Given the description of an element on the screen output the (x, y) to click on. 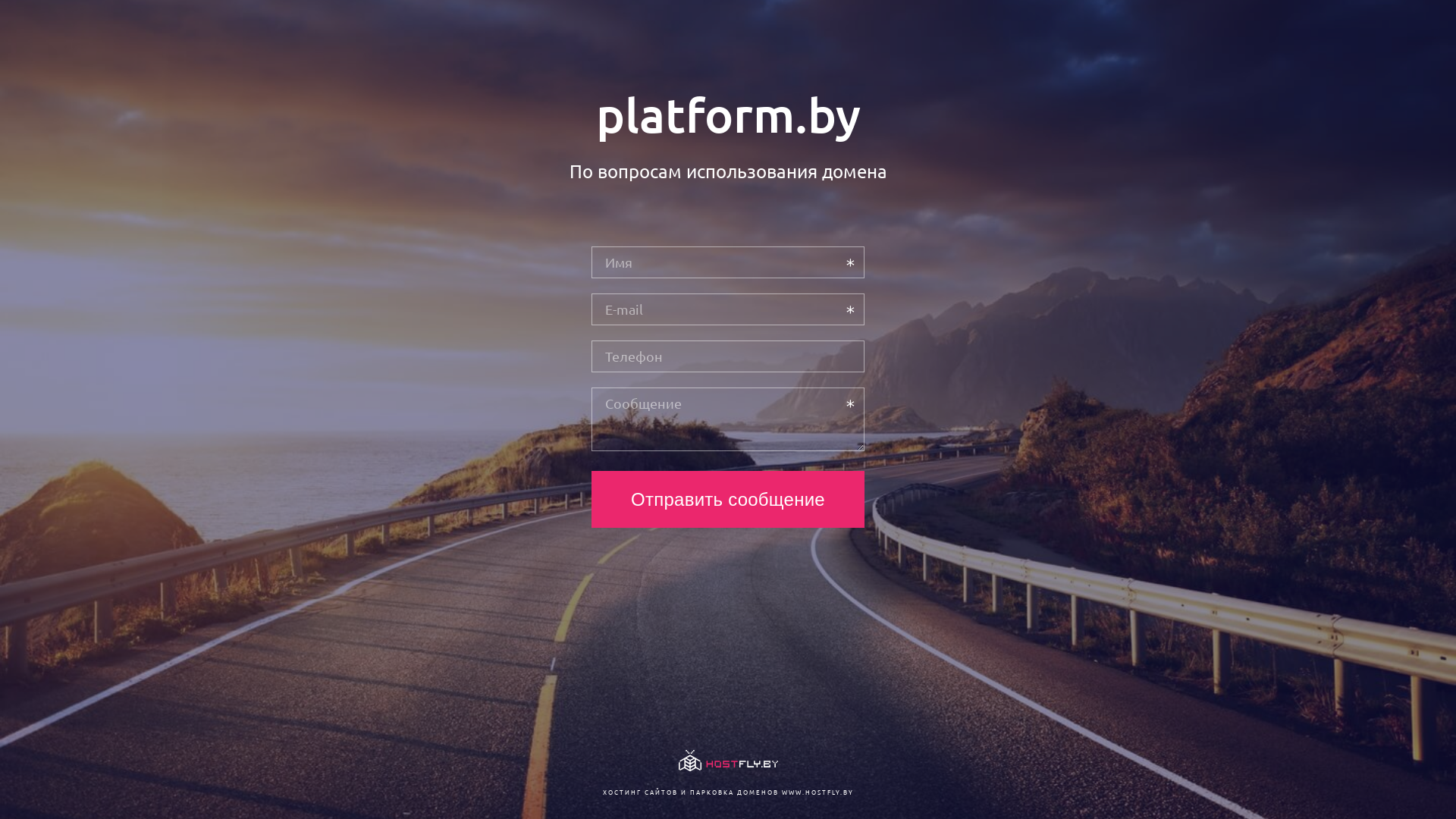
WWW.HOSTFLY.BY Element type: text (817, 791)
